Given the description of an element on the screen output the (x, y) to click on. 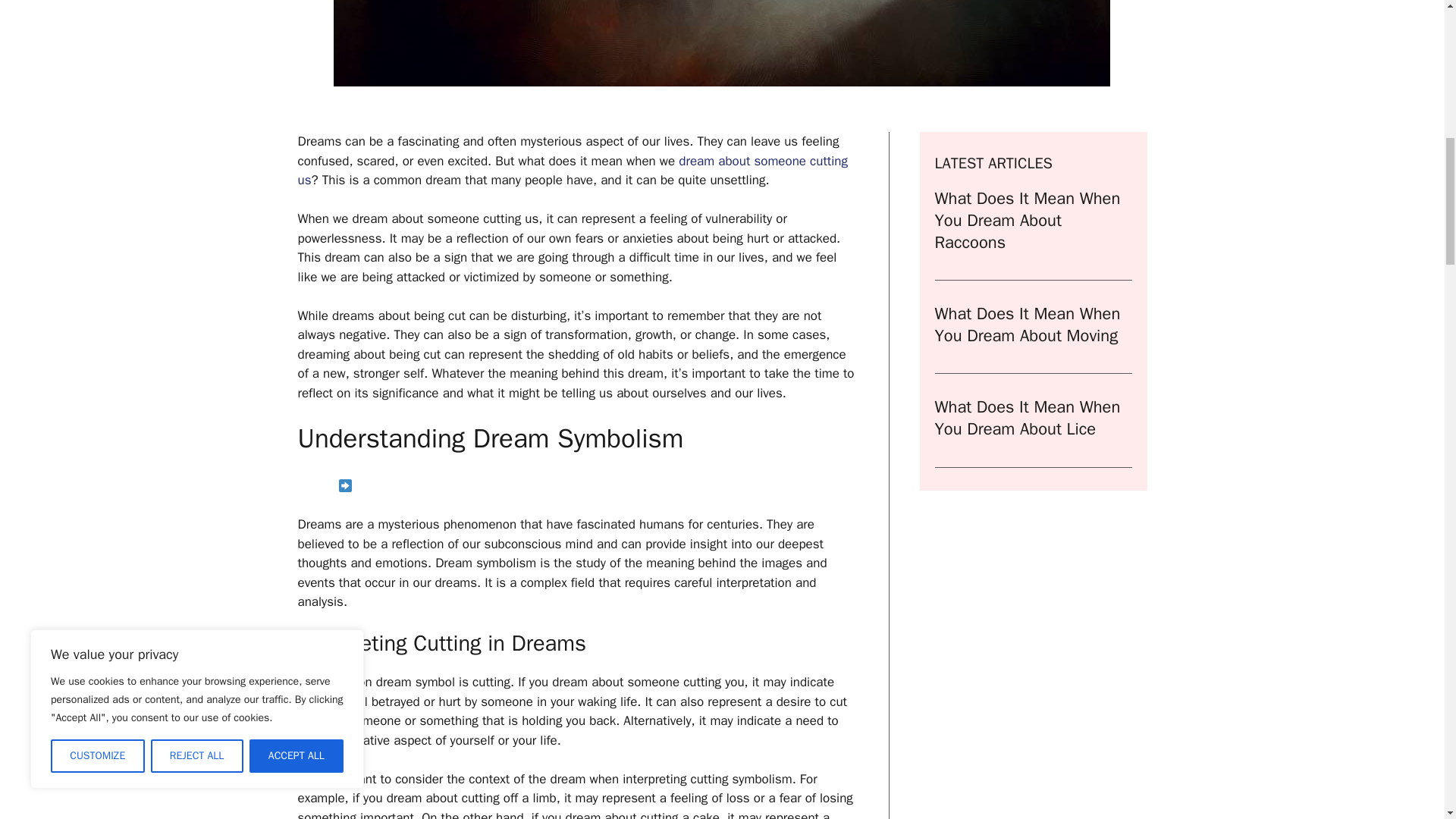
What Does It Mean When You Dream About Lice (1026, 417)
Scroll back to top (1406, 720)
What Does It Mean When You Dream About Moving (1026, 324)
What Does It Mean When You Dream About Raccoons (1026, 220)
Read What Do Serial Killer Dreams Mean (577, 486)
dream about someone cutting us (572, 171)
